Given the description of an element on the screen output the (x, y) to click on. 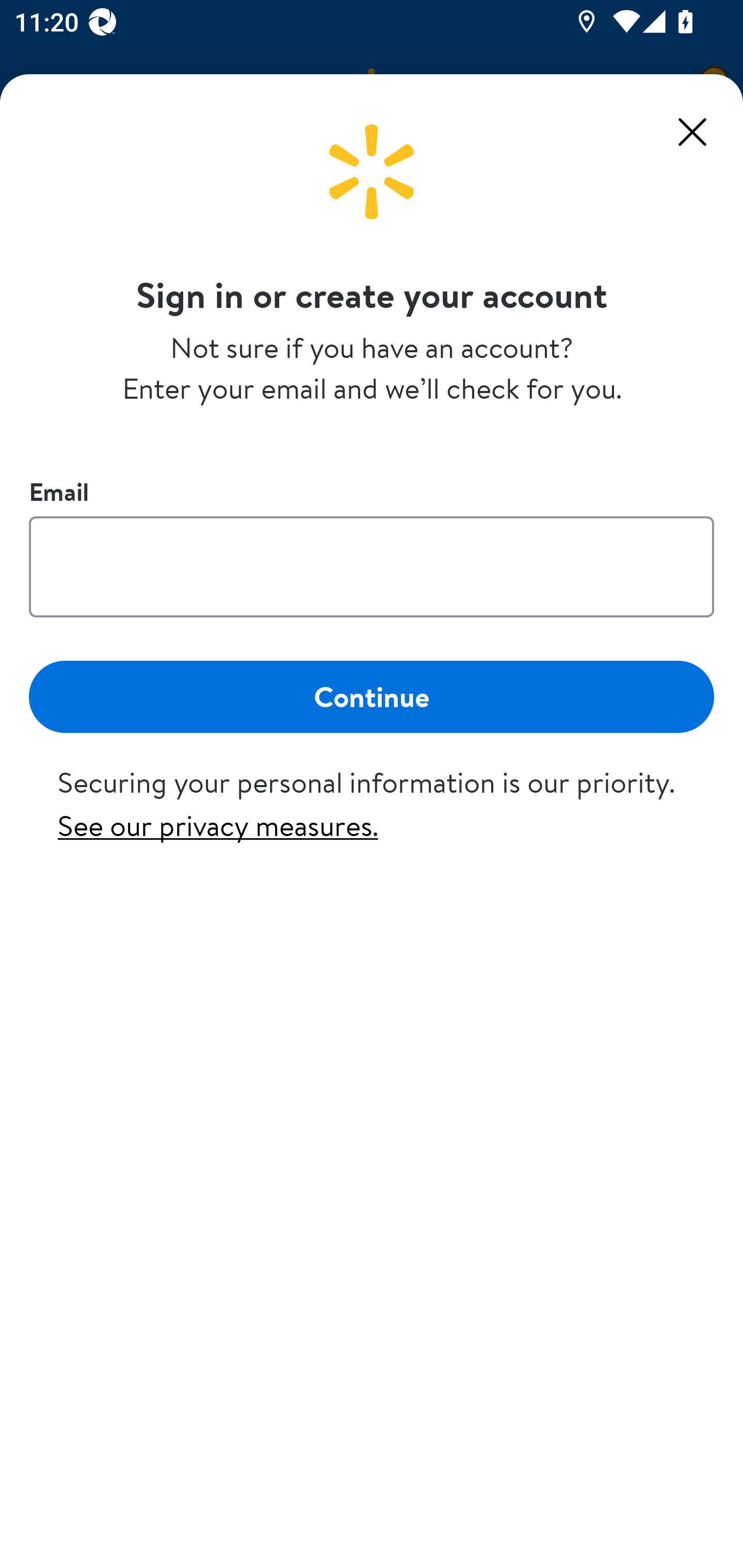
Close (692, 131)
Email (371, 566)
Continue (371, 696)
